Given the description of an element on the screen output the (x, y) to click on. 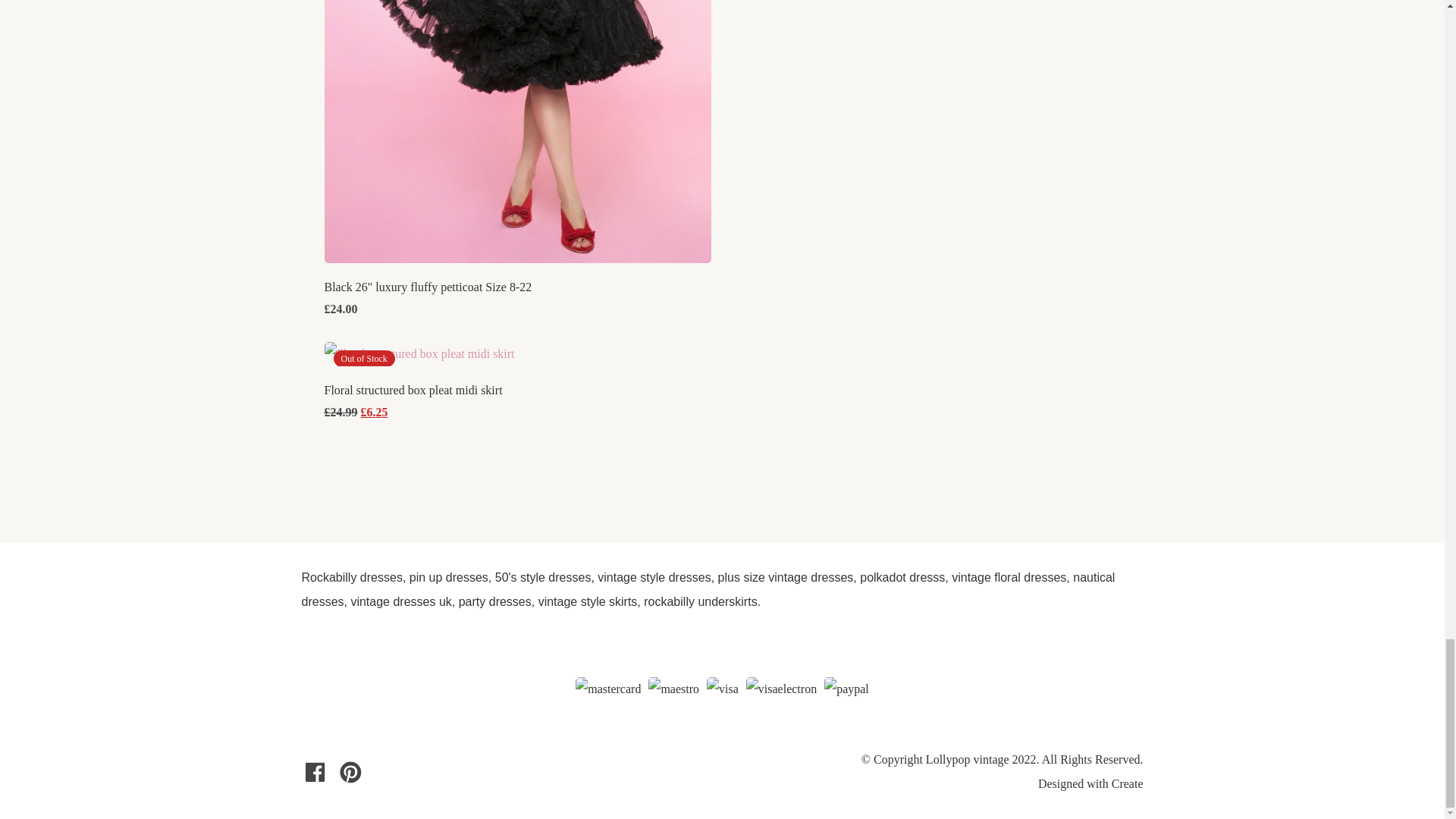
Floral structured box pleat midi skirt (413, 390)
Floral structured box pleat midi skirt (419, 352)
pinterest (350, 771)
pinterest (350, 771)
Black 26" luxury fluffy petticoat Size 8-22 (428, 286)
